Given the description of an element on the screen output the (x, y) to click on. 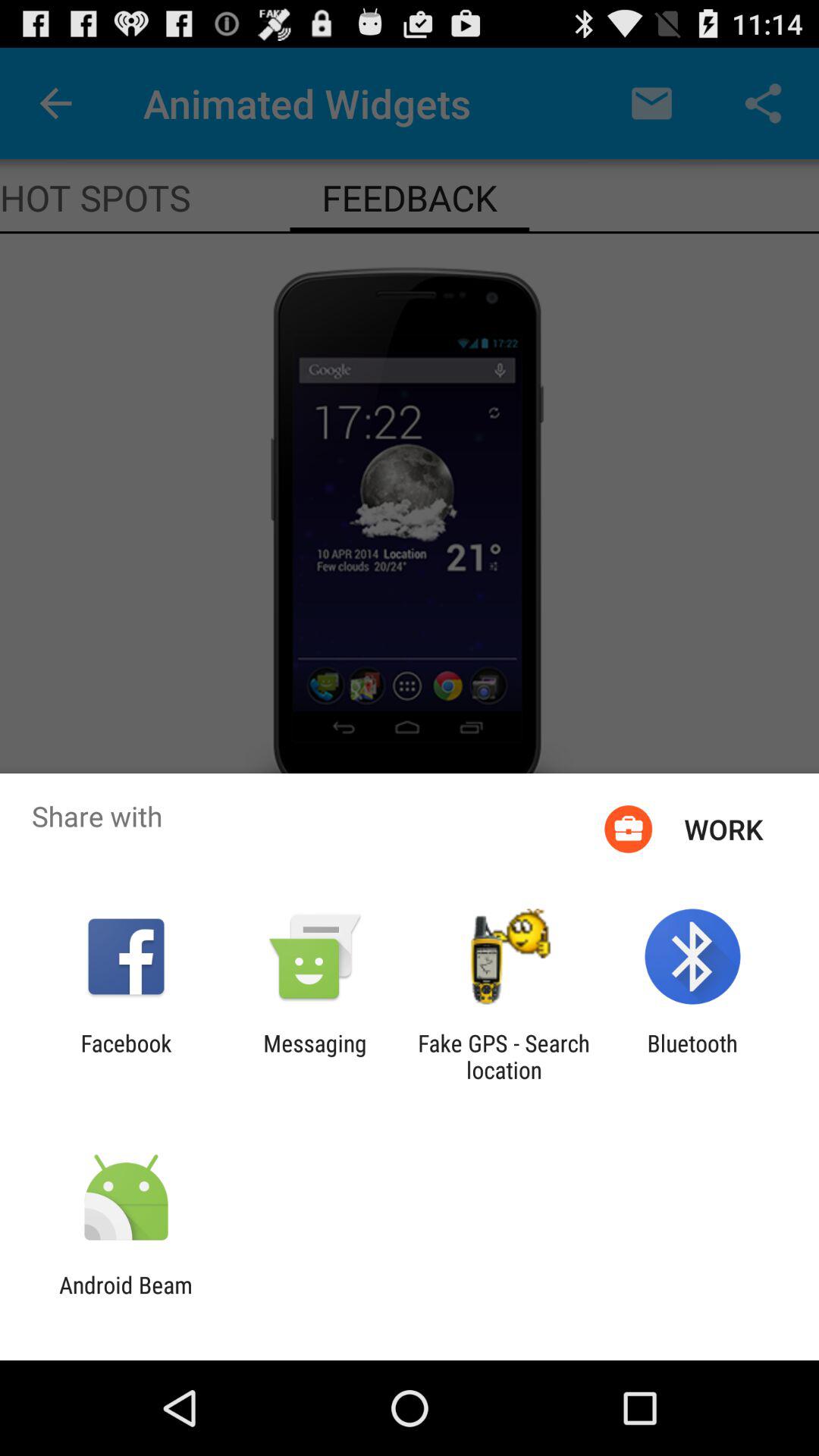
click the android beam item (125, 1298)
